Given the description of an element on the screen output the (x, y) to click on. 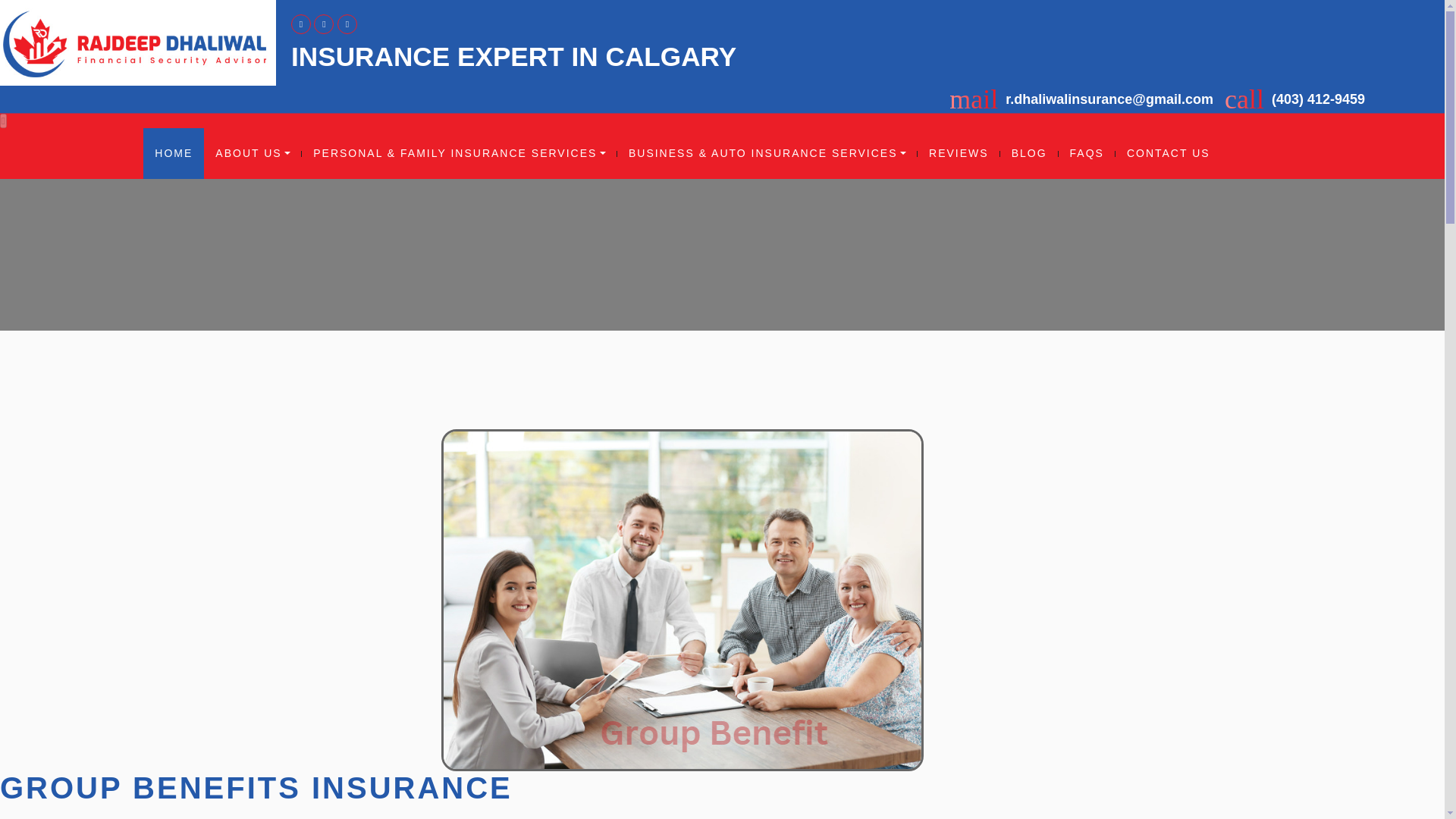
BLOG (1029, 153)
ABOUT US (252, 153)
CONTACT US (1168, 153)
FAQS (1086, 153)
REVIEWS (958, 153)
